Given the description of an element on the screen output the (x, y) to click on. 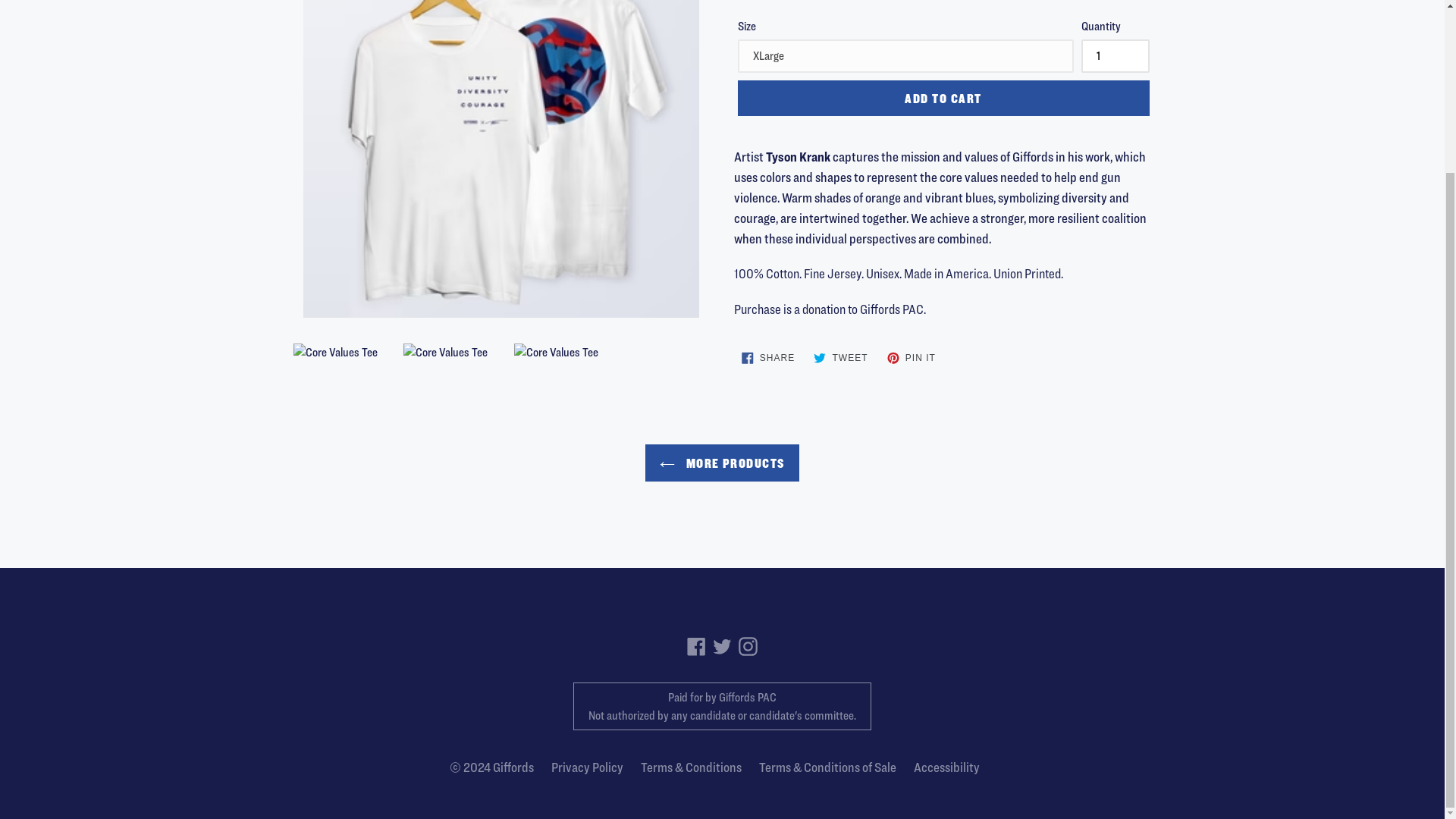
Twitter (721, 646)
Accessibility (840, 357)
Privacy Policy (911, 357)
Giffords (946, 766)
MORE PRODUCTS (768, 357)
ADD TO CART (587, 766)
Facebook (513, 766)
